Given the description of an element on the screen output the (x, y) to click on. 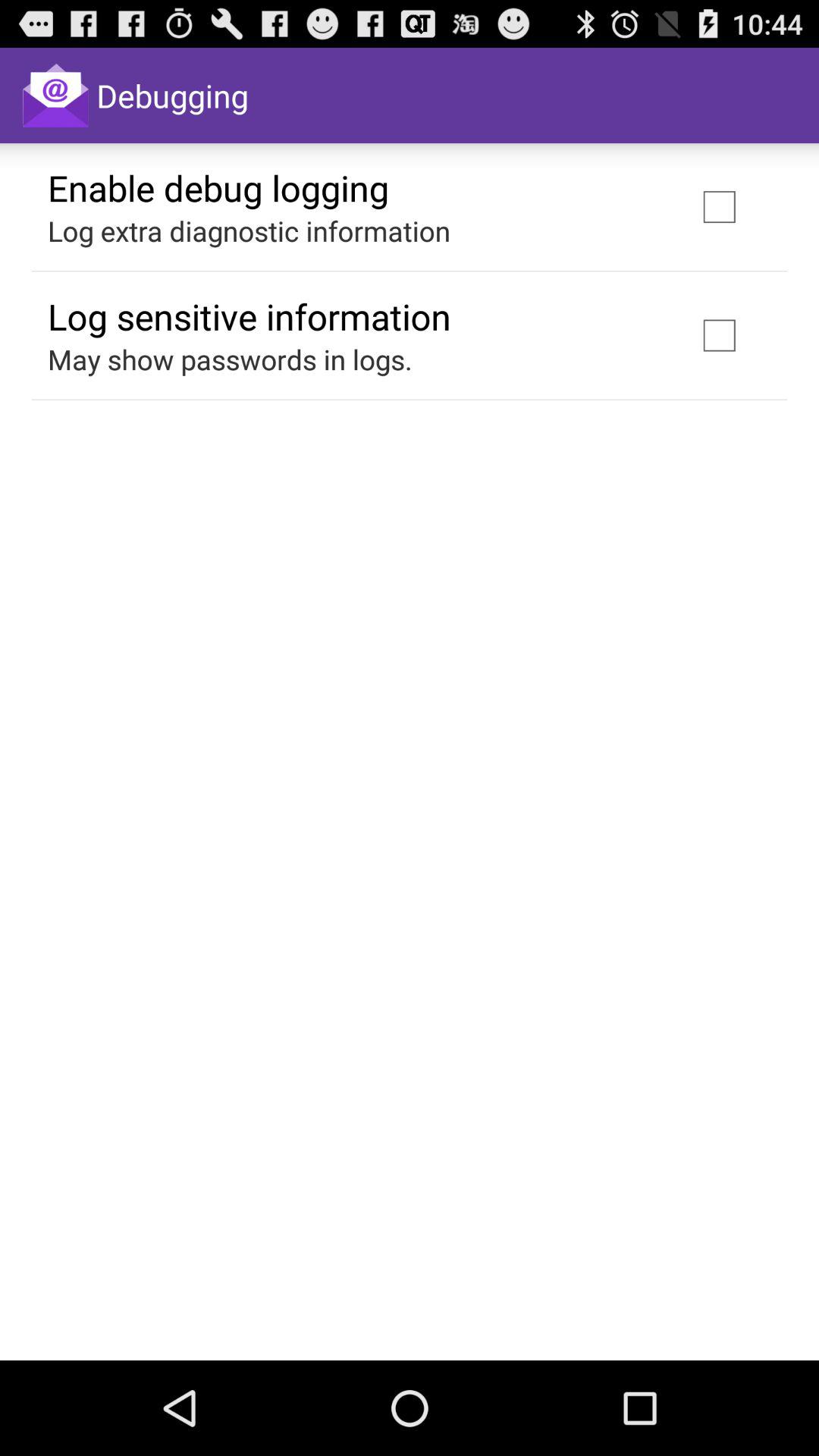
scroll until may show passwords app (229, 359)
